Given the description of an element on the screen output the (x, y) to click on. 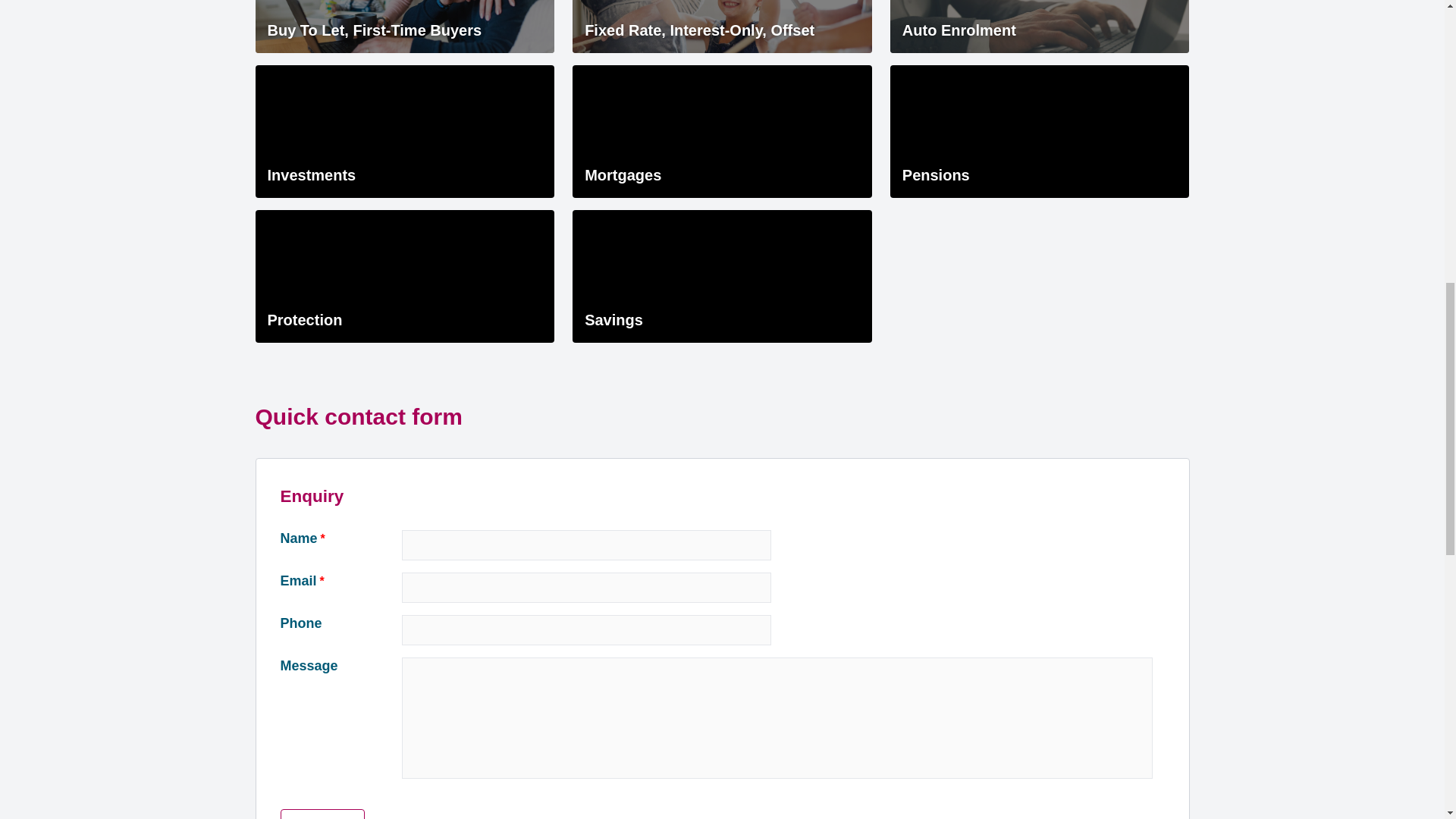
Mortgages (722, 131)
Investments (404, 131)
Submit (323, 814)
Pensions (1039, 131)
Protection (404, 276)
Savings (722, 276)
Fixed Rate, Interest-Only, Offset (722, 26)
Buy To Let, First-Time Buyers (404, 26)
Auto Enrolment (1039, 26)
Submit (323, 814)
